Given the description of an element on the screen output the (x, y) to click on. 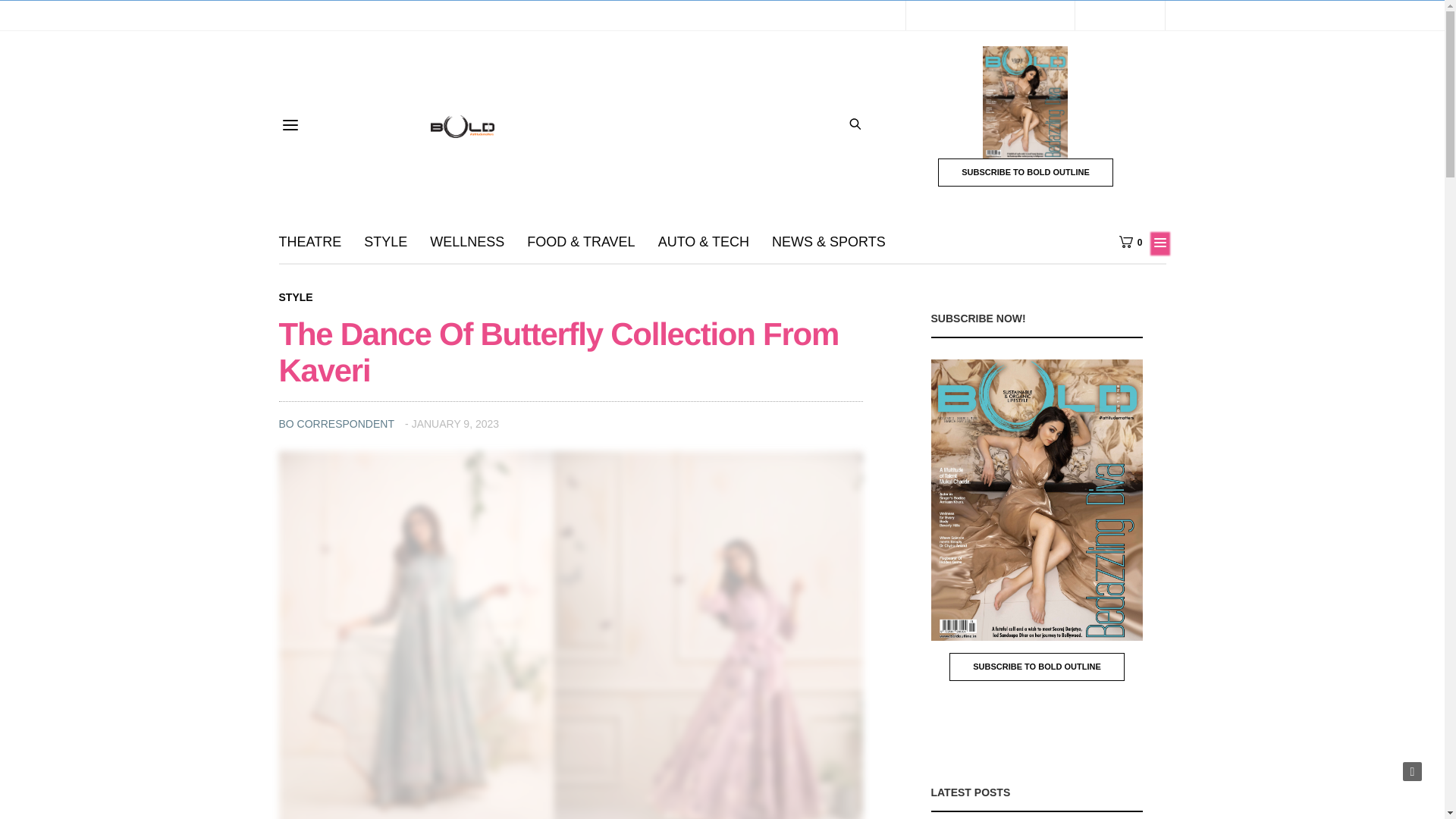
SUBSCRIBE NOW! (575, 15)
Posts by BO Correspondent (336, 423)
SUBSCRIBE TO BOLD OUTLINE (1025, 172)
Search (845, 155)
STYLE (296, 296)
THEATRE (310, 241)
Contact (492, 15)
FAQs (443, 15)
WELLNESS (466, 241)
About Us (304, 15)
STYLE (385, 241)
BO CORRESPONDENT (336, 423)
Style (296, 296)
Privacy (395, 15)
